Given the description of an element on the screen output the (x, y) to click on. 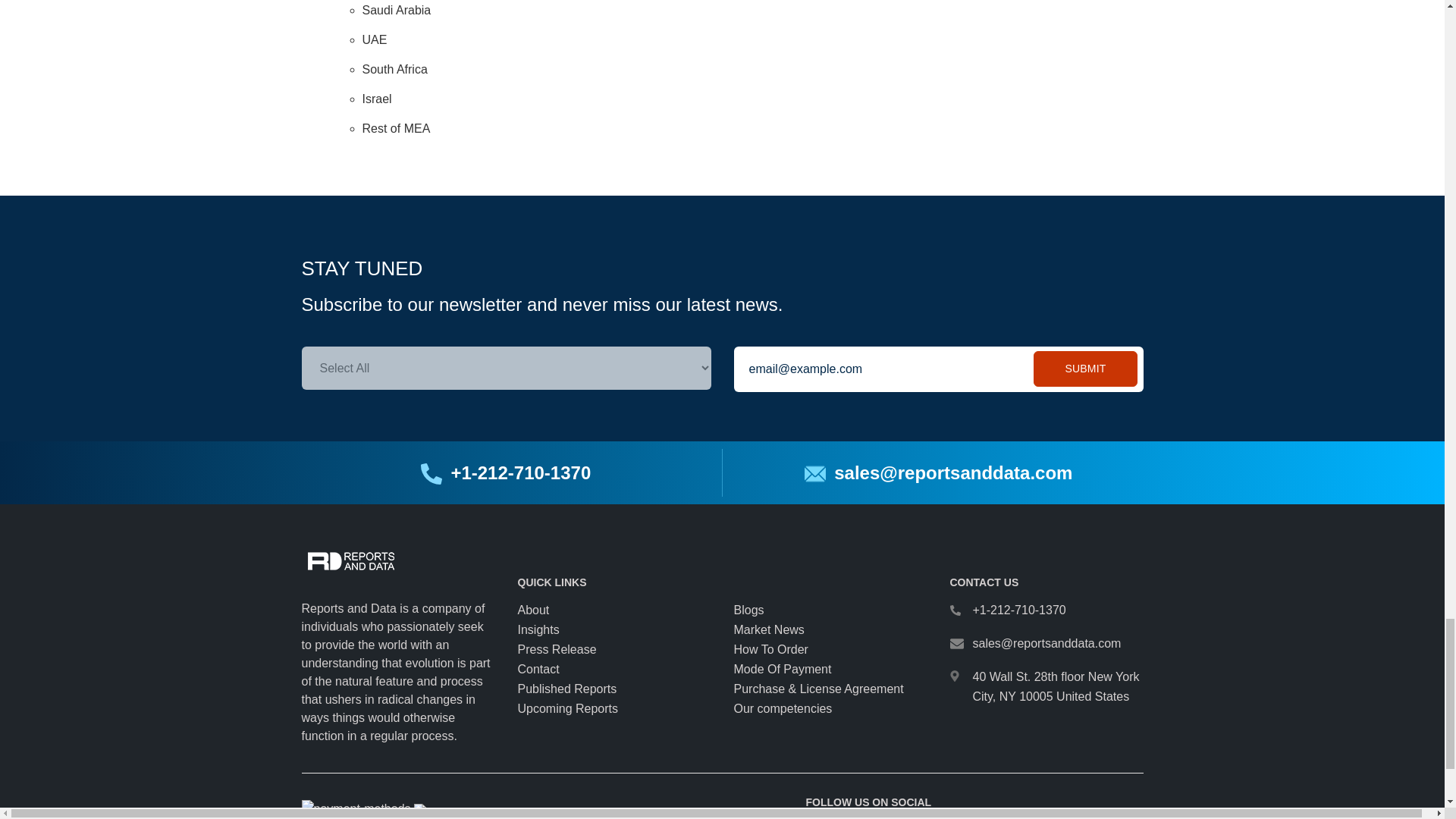
Submit (1085, 368)
